Given the description of an element on the screen output the (x, y) to click on. 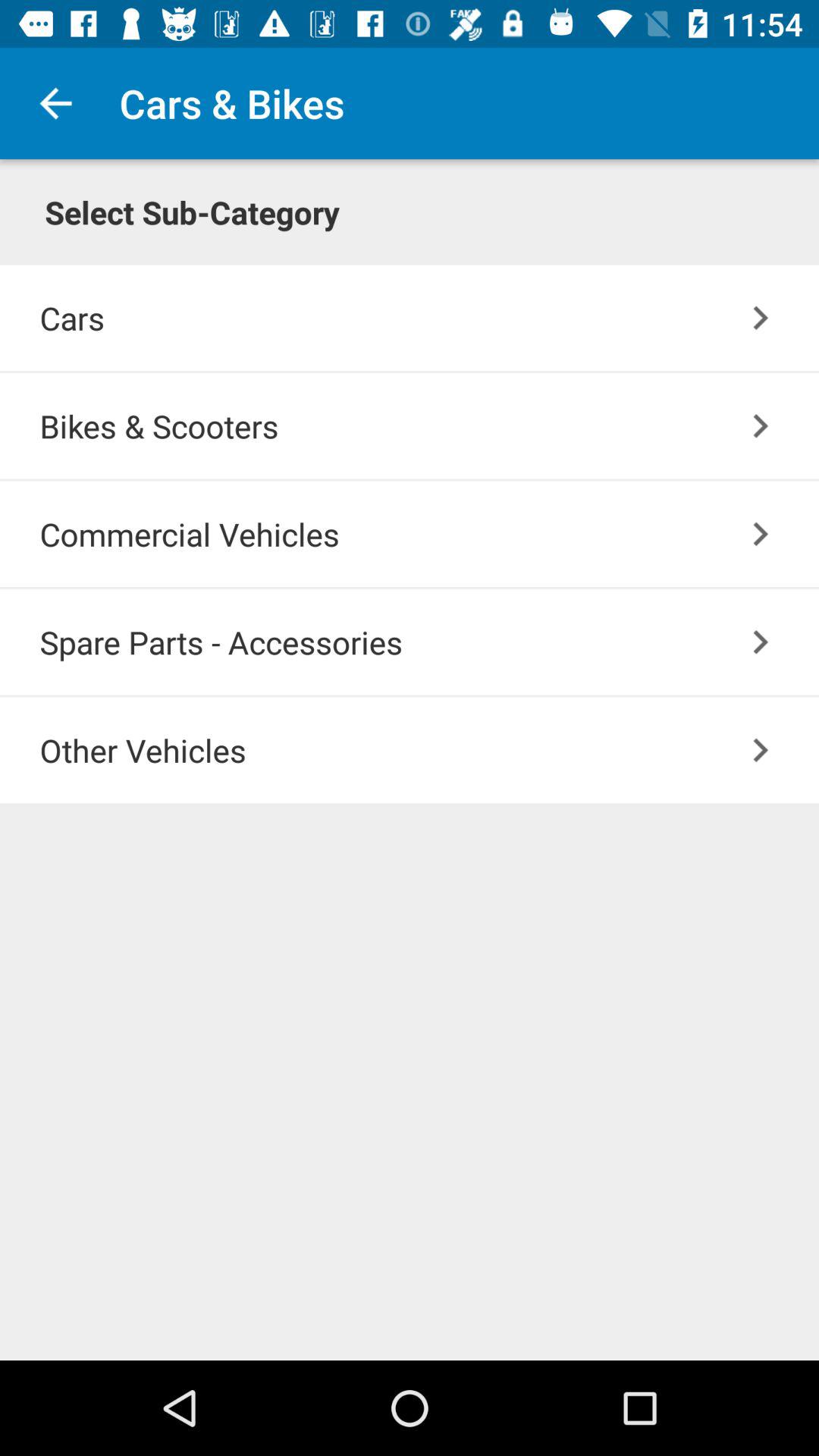
click icon below the commercial vehicles item (429, 642)
